Given the description of an element on the screen output the (x, y) to click on. 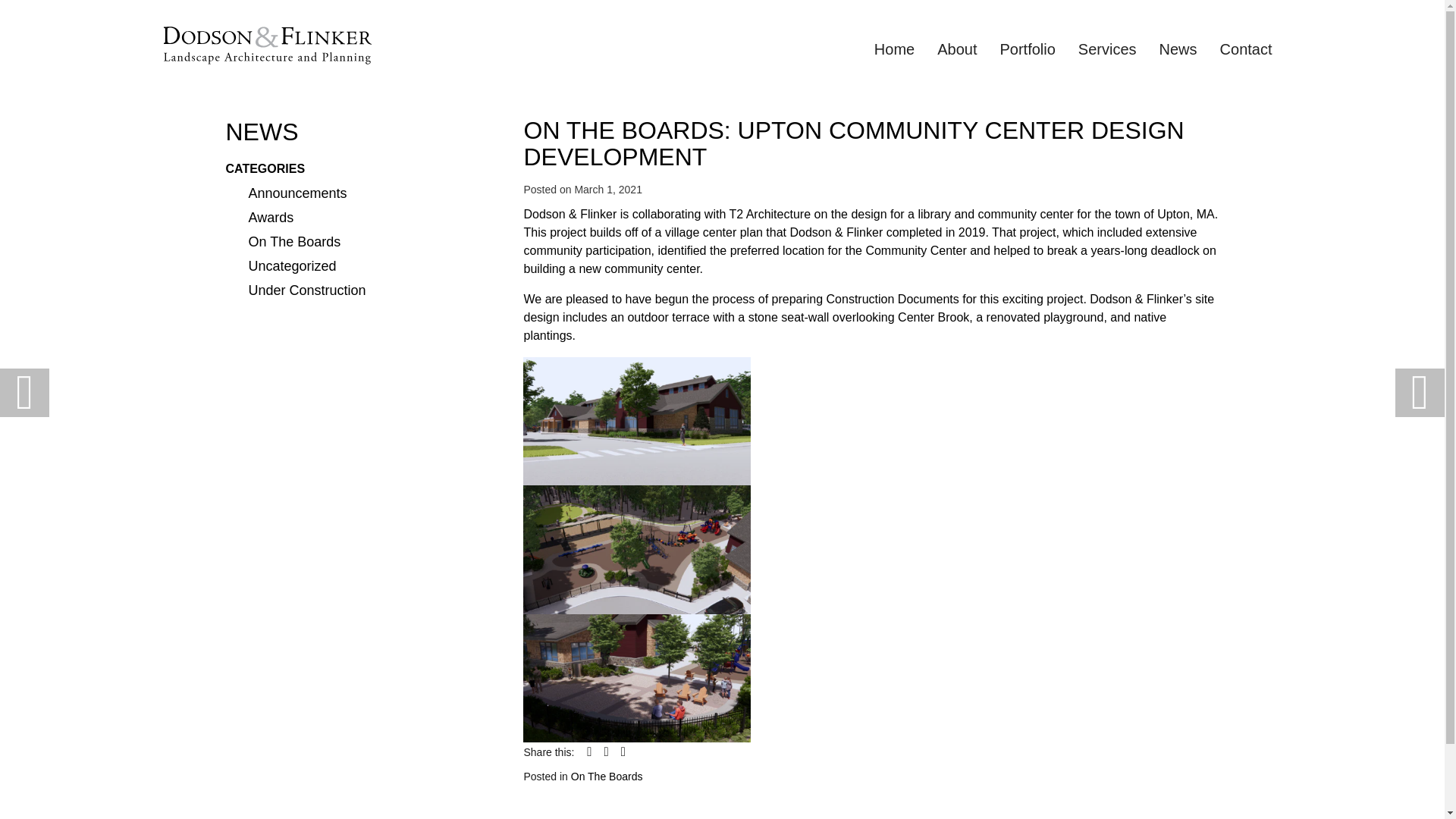
Services (1107, 48)
Home (894, 48)
Portfolio (1026, 48)
About (957, 48)
